Given the description of an element on the screen output the (x, y) to click on. 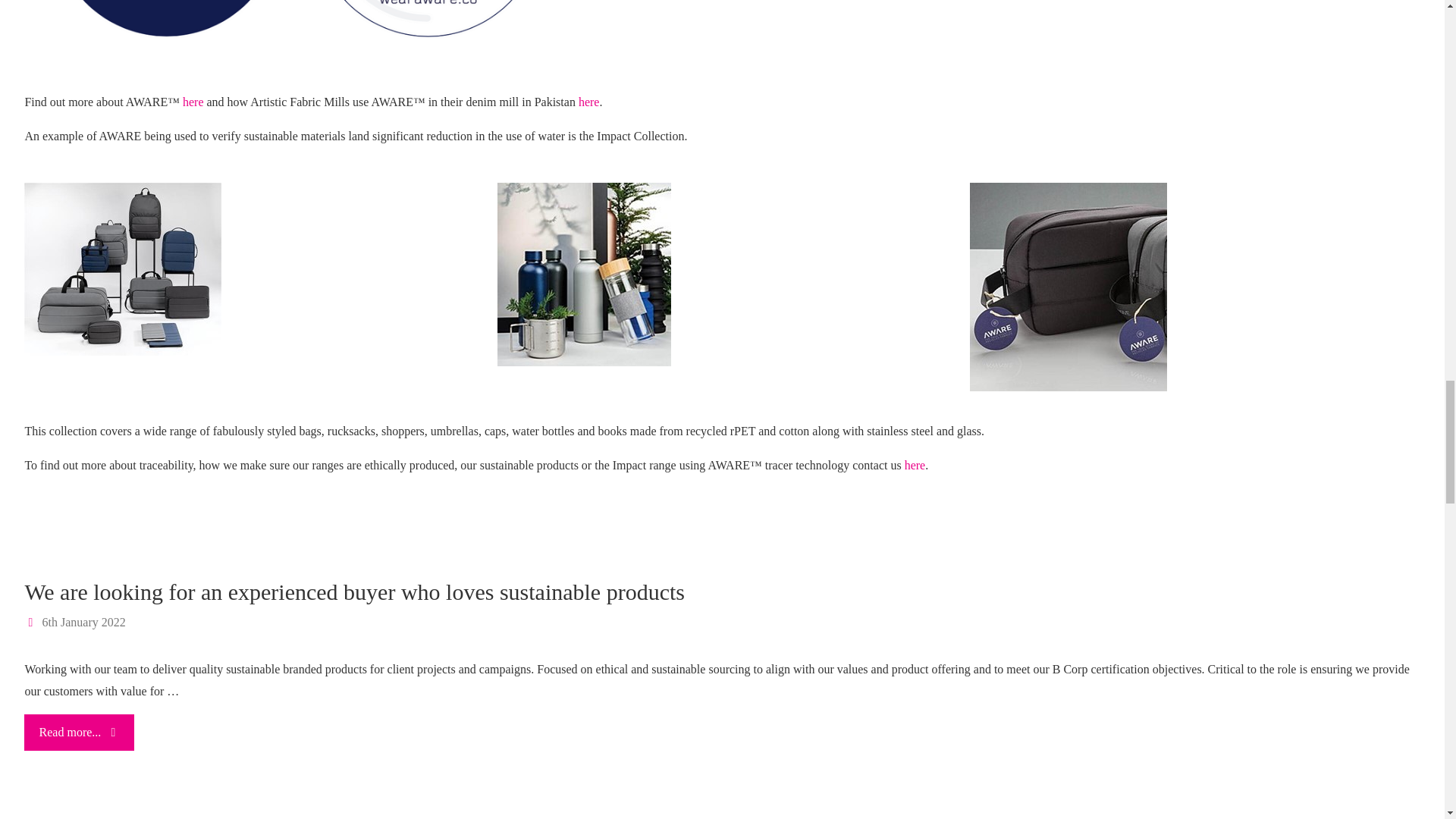
here (915, 464)
here (588, 101)
here (193, 101)
Date (31, 621)
Read more... (78, 732)
